Given the description of an element on the screen output the (x, y) to click on. 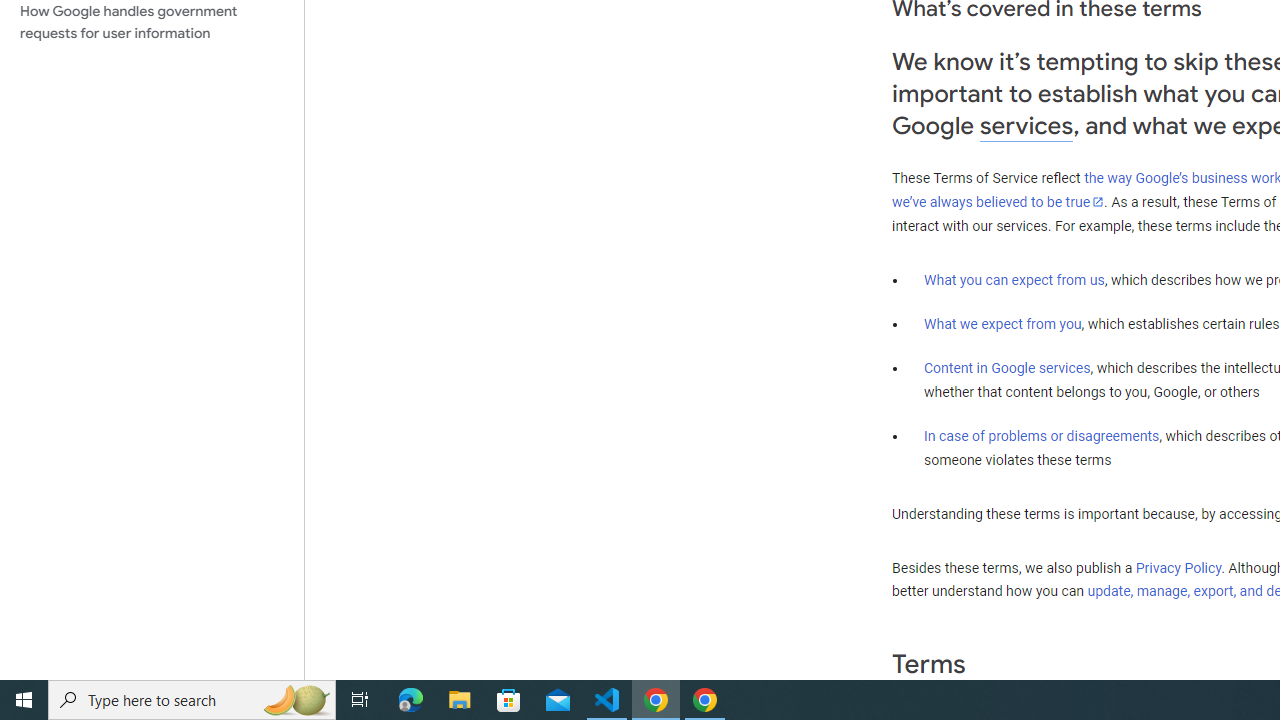
What we expect from you (1002, 323)
What you can expect from us (1014, 279)
